Given the description of an element on the screen output the (x, y) to click on. 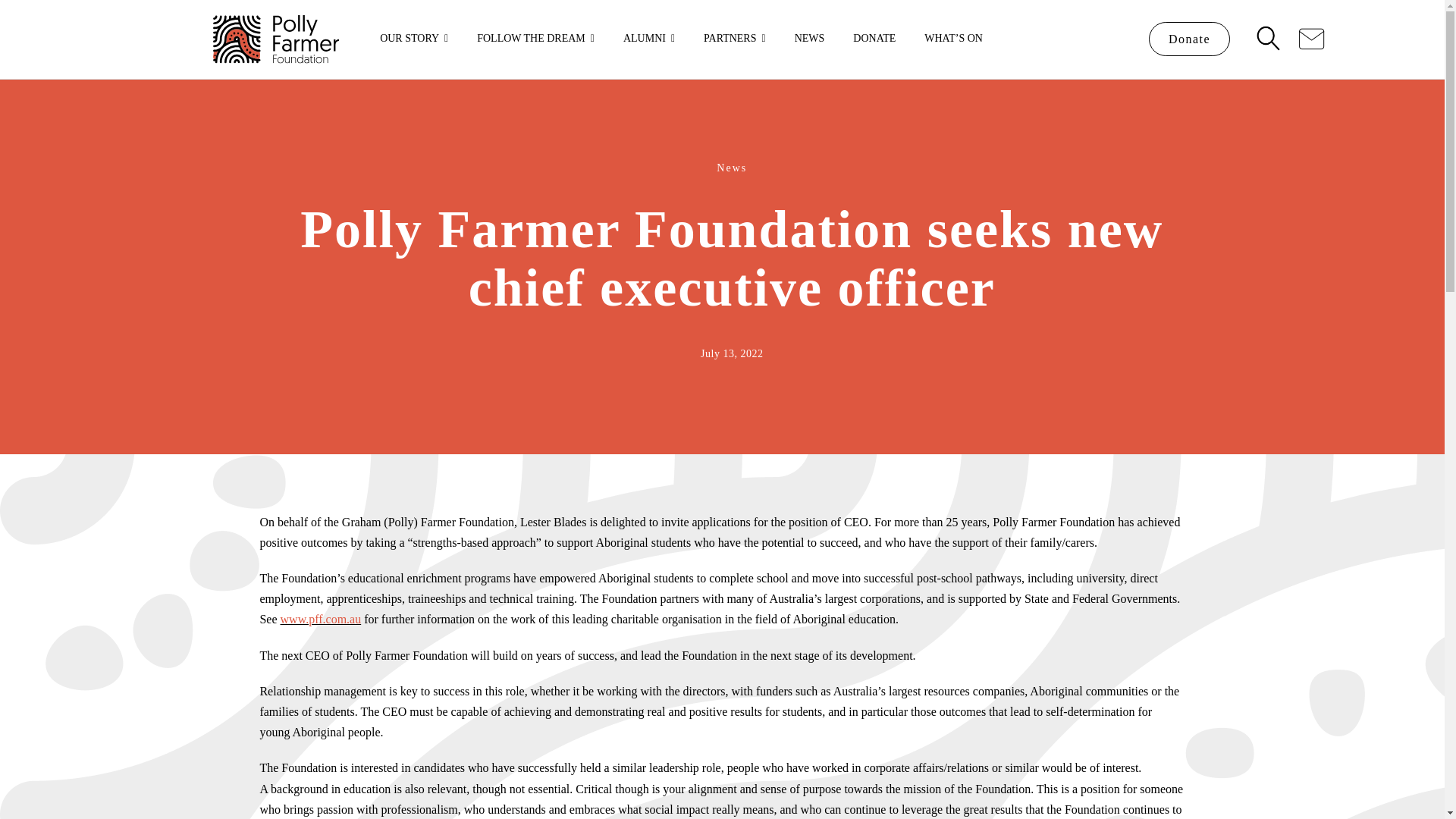
Search (1268, 39)
DONATE (874, 39)
FOLLOW THE DREAM (535, 39)
PARTNERS (734, 39)
Donate (1189, 39)
ALUMNI (649, 39)
NEWS (810, 39)
OUR STORY (414, 39)
